Given the description of an element on the screen output the (x, y) to click on. 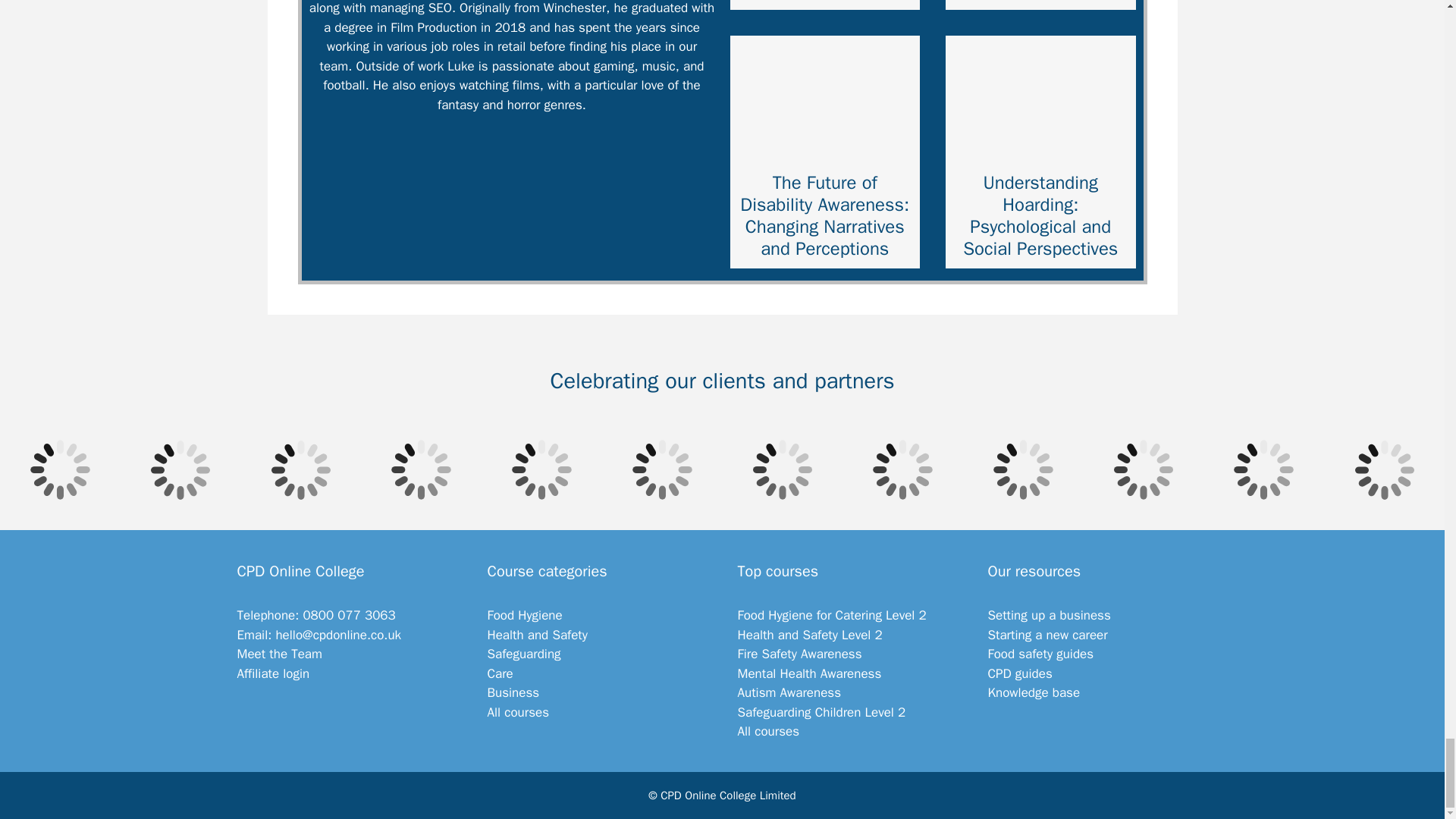
Food Hygiene (524, 615)
Food Hygiene course (831, 615)
Business (512, 692)
Health and Safety (536, 634)
Safeguarding (523, 653)
All courses (517, 712)
Care (499, 673)
